Given the description of an element on the screen output the (x, y) to click on. 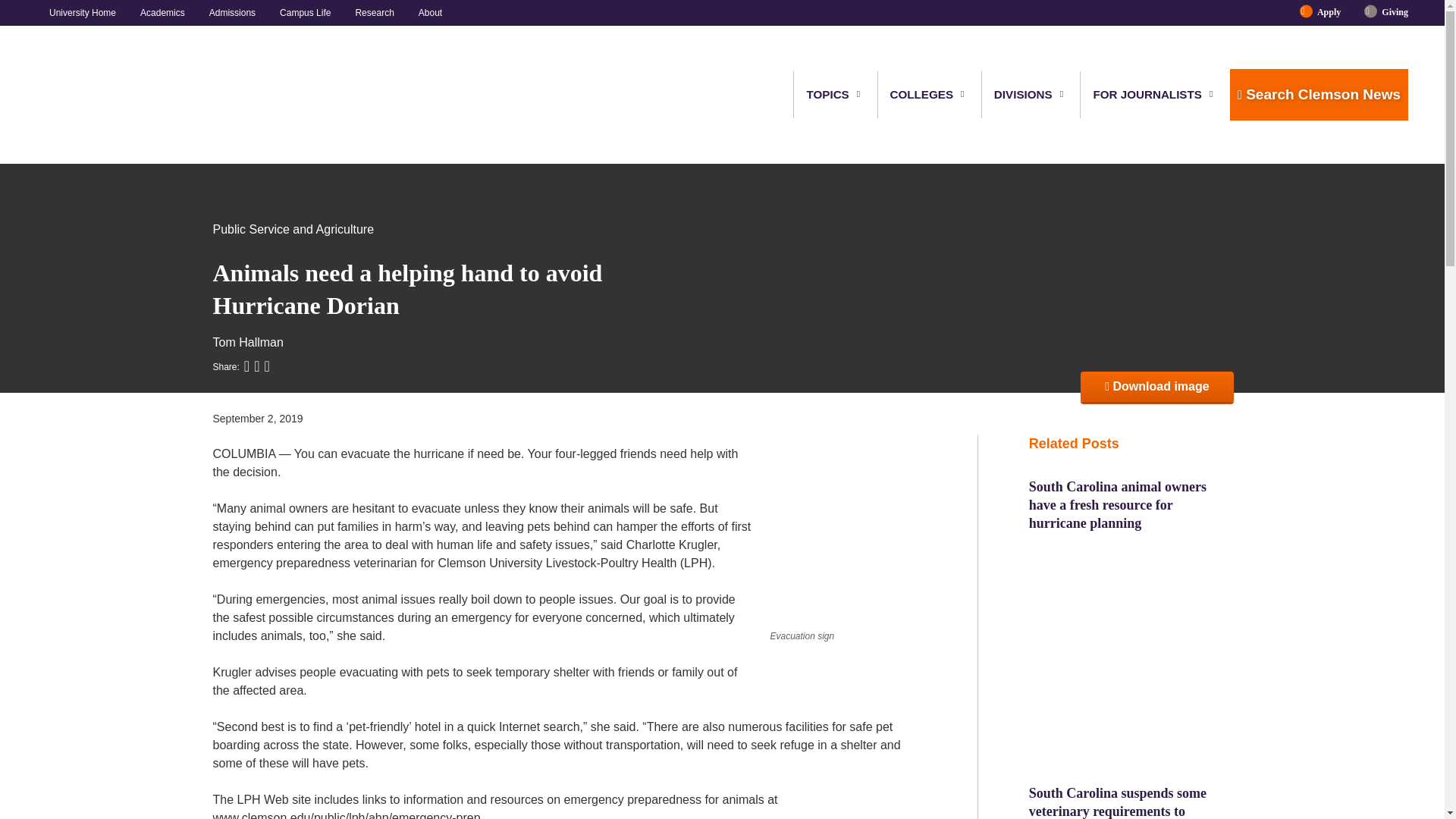
Clemson News (114, 94)
COLLEGES (922, 94)
Academics (162, 12)
Posts by Tom Hallman (247, 341)
Admissions (231, 12)
Research (374, 12)
TOPICS (828, 94)
About (424, 12)
Giving (1388, 11)
Apply (1328, 11)
